Given the description of an element on the screen output the (x, y) to click on. 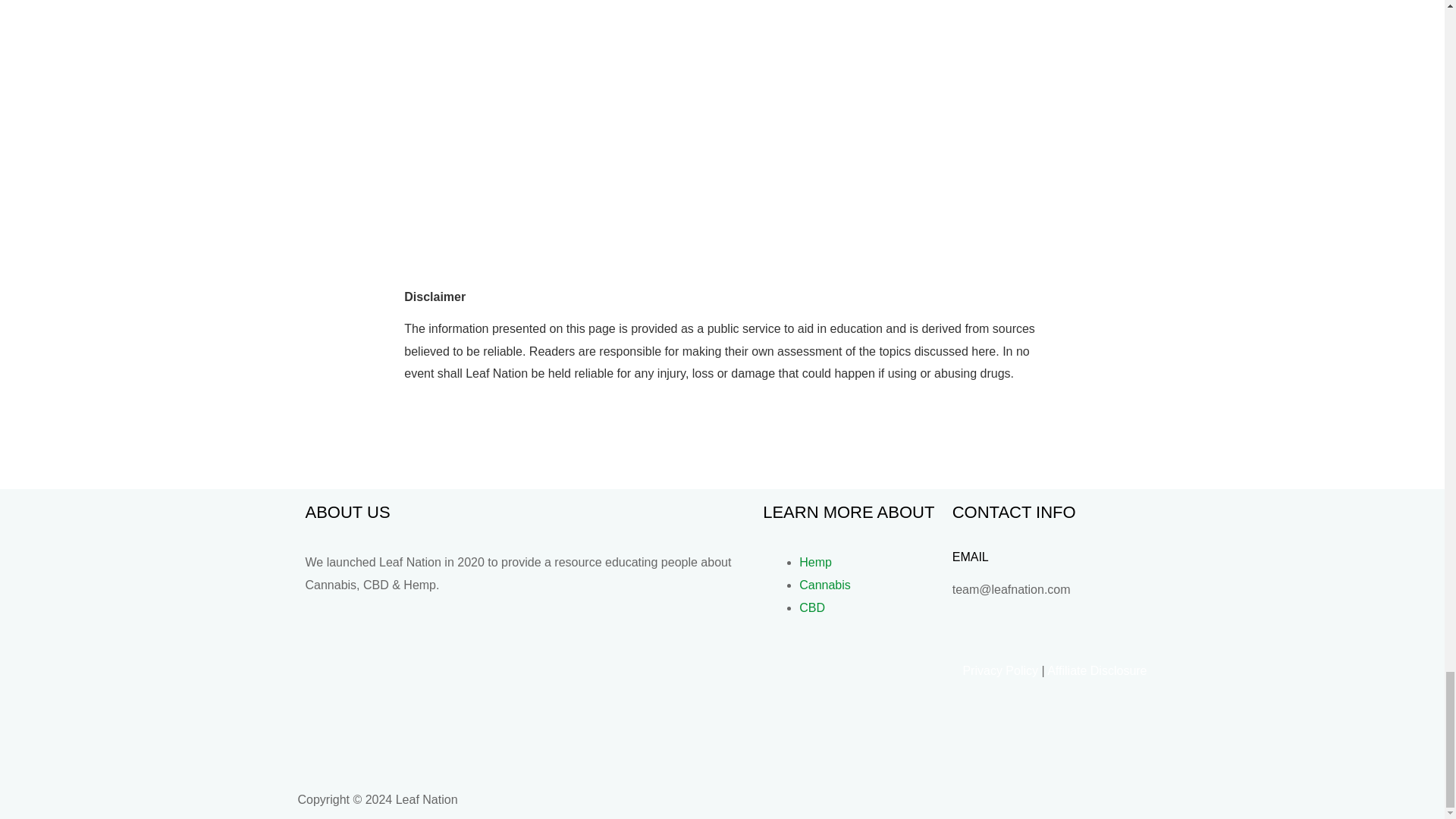
leafnation-light-logo-final (410, 716)
Privacy Policy (1000, 670)
Cannabis (824, 584)
CBD (812, 607)
Hemp (815, 562)
Affiliate Disclosure (1096, 670)
